Given the description of an element on the screen output the (x, y) to click on. 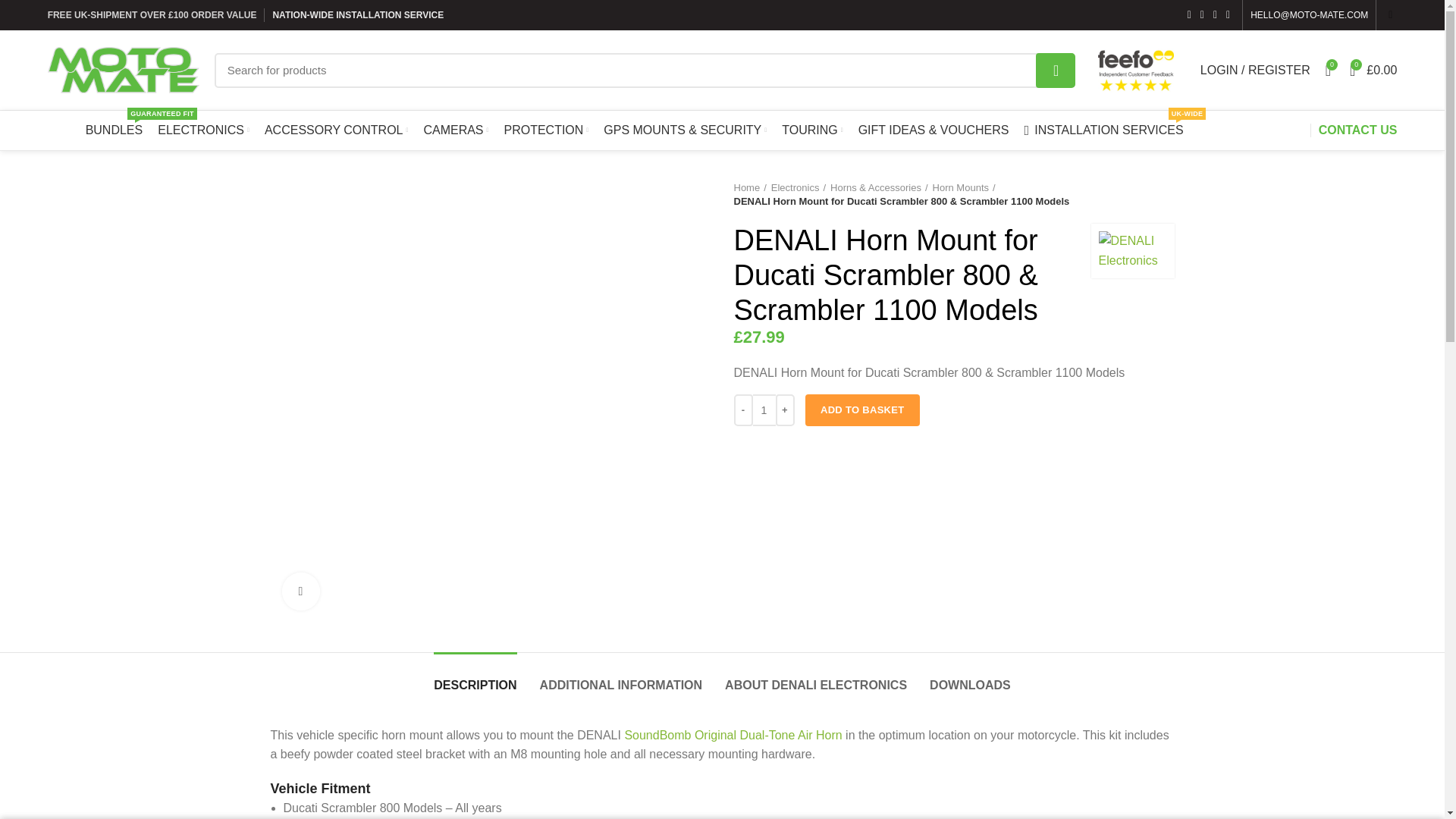
Search for products (644, 70)
My account (1254, 69)
SEARCH (1055, 70)
DENALI Electronics (1131, 250)
Denali SoundBOMB 120dB Horn (732, 735)
NATION-WIDE INSTALLATION SERVICE (358, 14)
Shopping cart (1373, 69)
ELECTRONICS (203, 130)
